Given the description of an element on the screen output the (x, y) to click on. 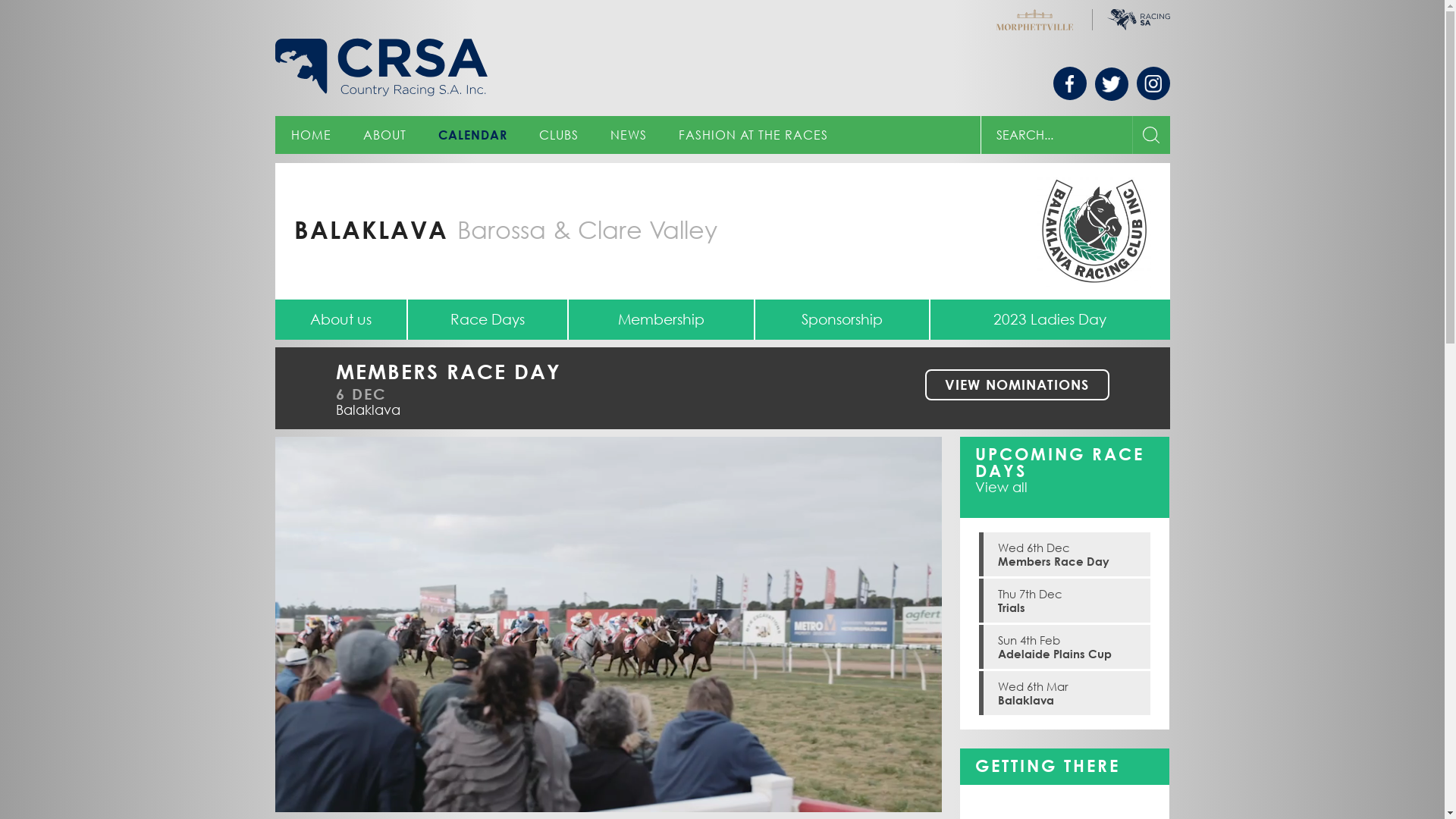
NEWS Element type: text (628, 134)
Thu 7th Dec
Trials Element type: text (1064, 600)
SEARCH Element type: text (1150, 134)
Wed 6th Mar
Balaklava Element type: text (1064, 693)
CLUBS Element type: text (558, 134)
ABOUT Element type: text (384, 134)
Race Days Element type: text (487, 319)
Sun 4th Feb
Adelaide Plains Cup Element type: text (1064, 646)
Wed 6th Dec
Members Race Day Element type: text (1064, 554)
Racing SA Element type: text (1138, 18)
VIEW NOMINATIONS Element type: text (1016, 385)
HOME Element type: text (310, 134)
Membership Element type: text (660, 319)
2023 Ladies Day Element type: text (1050, 319)
View all Element type: text (1001, 487)
CALENDAR Element type: text (471, 134)
Sponsorship Element type: text (841, 319)
About us Element type: text (340, 319)
Morphettville Element type: text (1034, 18)
FASHION AT THE RACES Element type: text (753, 134)
